Given the description of an element on the screen output the (x, y) to click on. 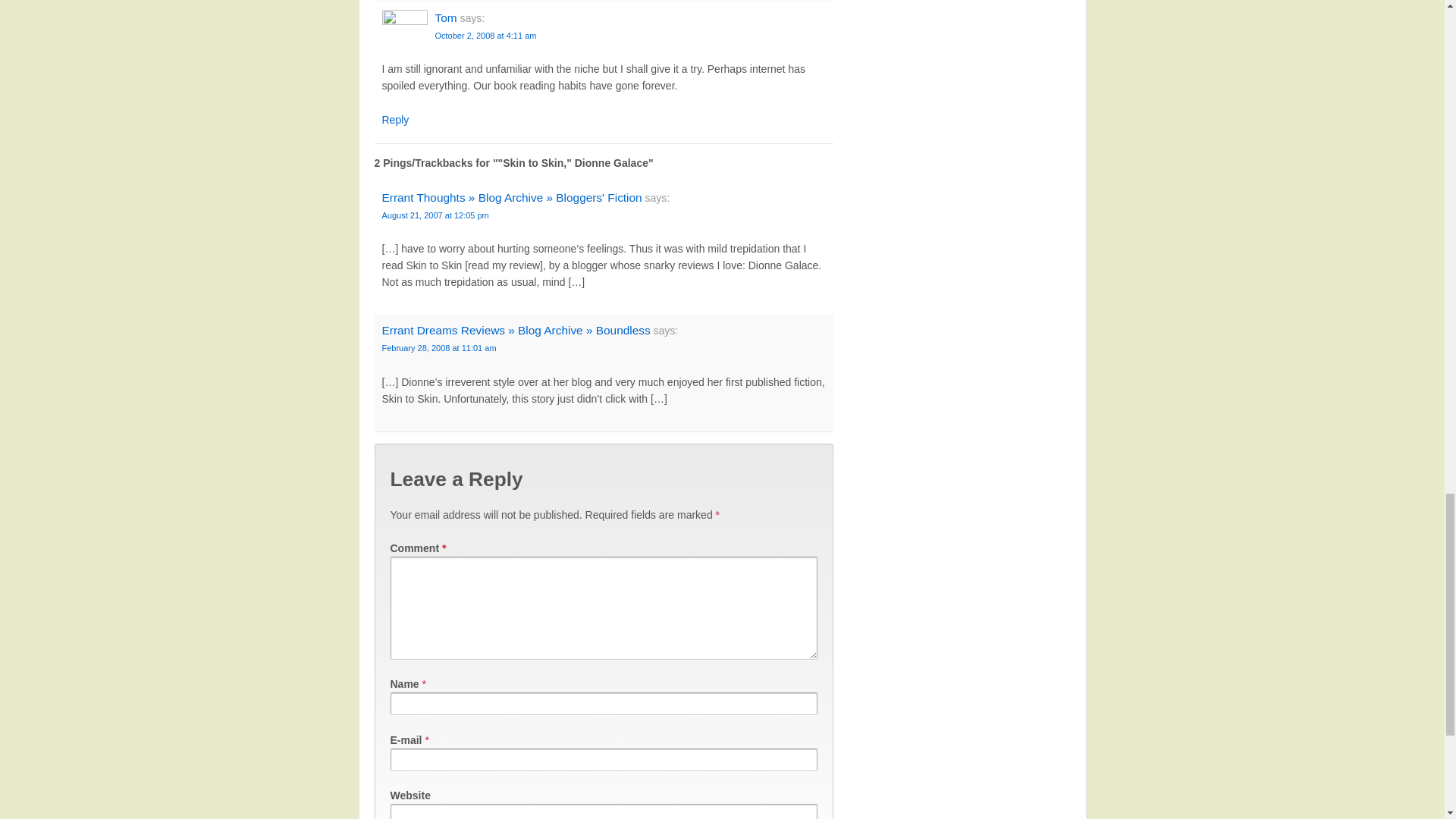
October 2, 2008 at 4:11 am (486, 35)
Tom (446, 17)
Reply (395, 119)
August 21, 2007 at 12:05 pm (435, 215)
